Given the description of an element on the screen output the (x, y) to click on. 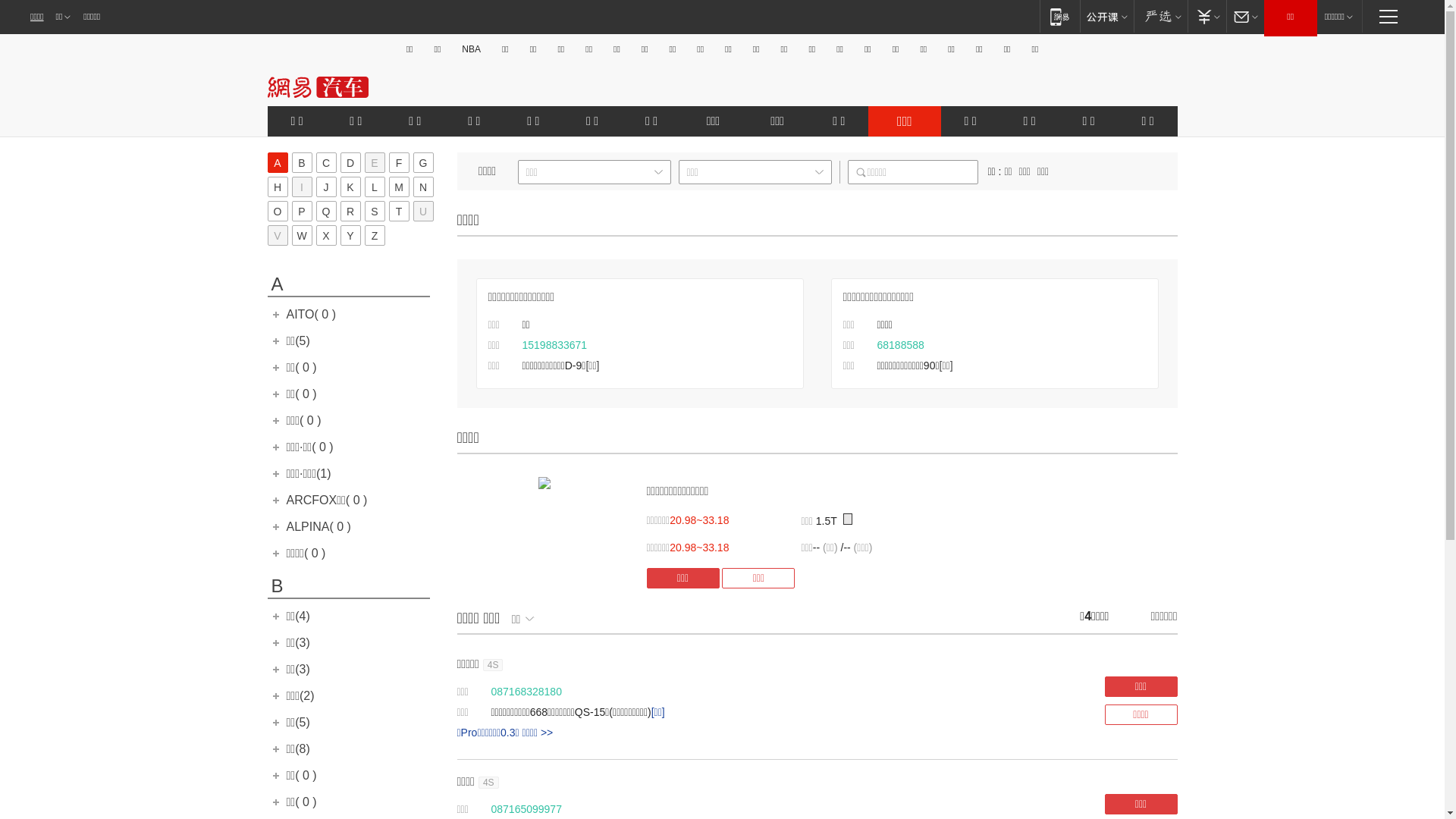
T Element type: text (398, 210)
O Element type: text (276, 210)
V Element type: text (276, 235)
X Element type: text (325, 235)
H Element type: text (276, 186)
A Element type: text (276, 162)
Q Element type: text (325, 210)
L Element type: text (374, 186)
ALPINA( 0 ) Element type: text (318, 526)
F Element type: text (398, 162)
S Element type: text (374, 210)
P Element type: text (301, 210)
U Element type: text (422, 210)
N Element type: text (422, 186)
R Element type: text (349, 210)
M Element type: text (398, 186)
Y Element type: text (349, 235)
I Element type: text (301, 186)
C Element type: text (325, 162)
W Element type: text (301, 235)
K Element type: text (349, 186)
J Element type: text (325, 186)
D Element type: text (349, 162)
G Element type: text (422, 162)
NBA Element type: text (471, 48)
E Element type: text (374, 162)
B Element type: text (301, 162)
Z Element type: text (374, 235)
AITO( 0 ) Element type: text (311, 313)
